Given the description of an element on the screen output the (x, y) to click on. 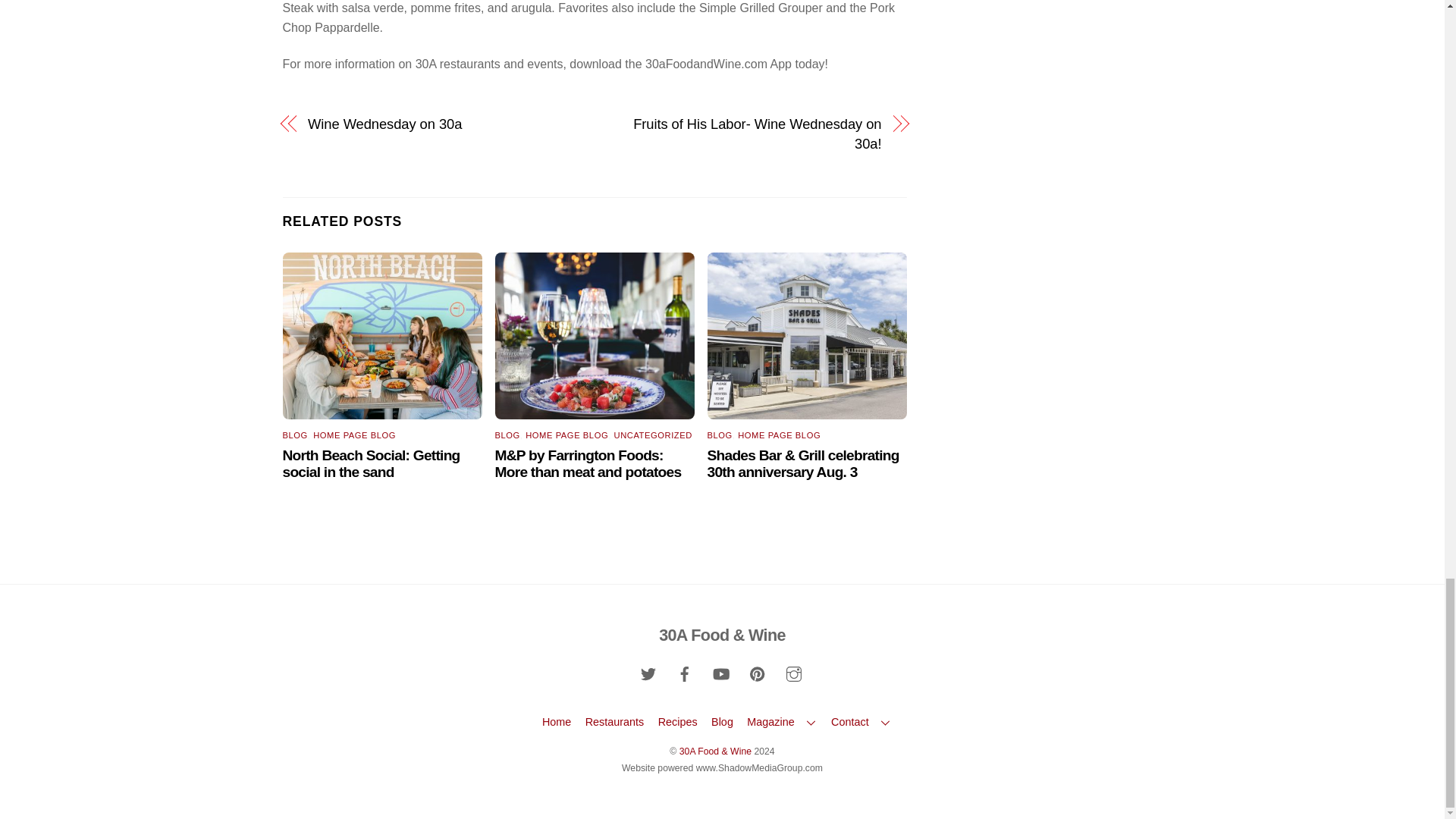
HOME PAGE BLOG (354, 434)
BLOG (294, 434)
North Beach Social: Getting social in the sand (371, 463)
BLOG (507, 434)
image0 copy 2-web (595, 336)
Wine Wednesday on 30a (441, 124)
Fruits of His Labor- Wine Wednesday on 30a! (746, 134)
shades-spring-2021-073-web (807, 336)
